Given the description of an element on the screen output the (x, y) to click on. 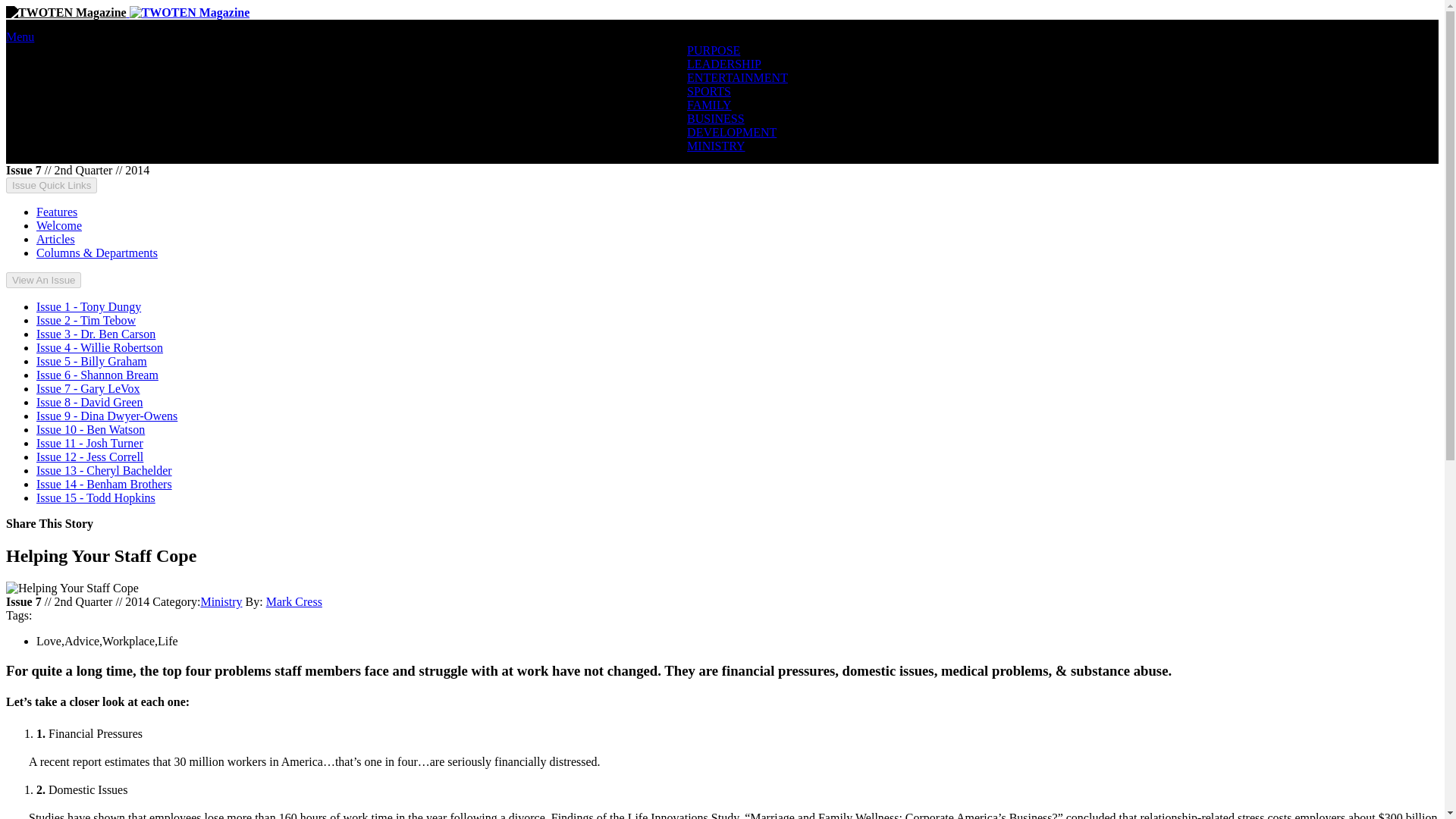
Issue 10 - Ben Watson (90, 429)
Issue 5 - Billy Graham (91, 360)
Issue 11 - Josh Turner (89, 442)
Issue 15 - Todd Hopkins (95, 497)
MINISTRY (715, 145)
Welcome (58, 225)
LEADERSHIP (724, 63)
ENTERTAINMENT (737, 77)
Articles (55, 238)
BUSINESS (715, 118)
